Given the description of an element on the screen output the (x, y) to click on. 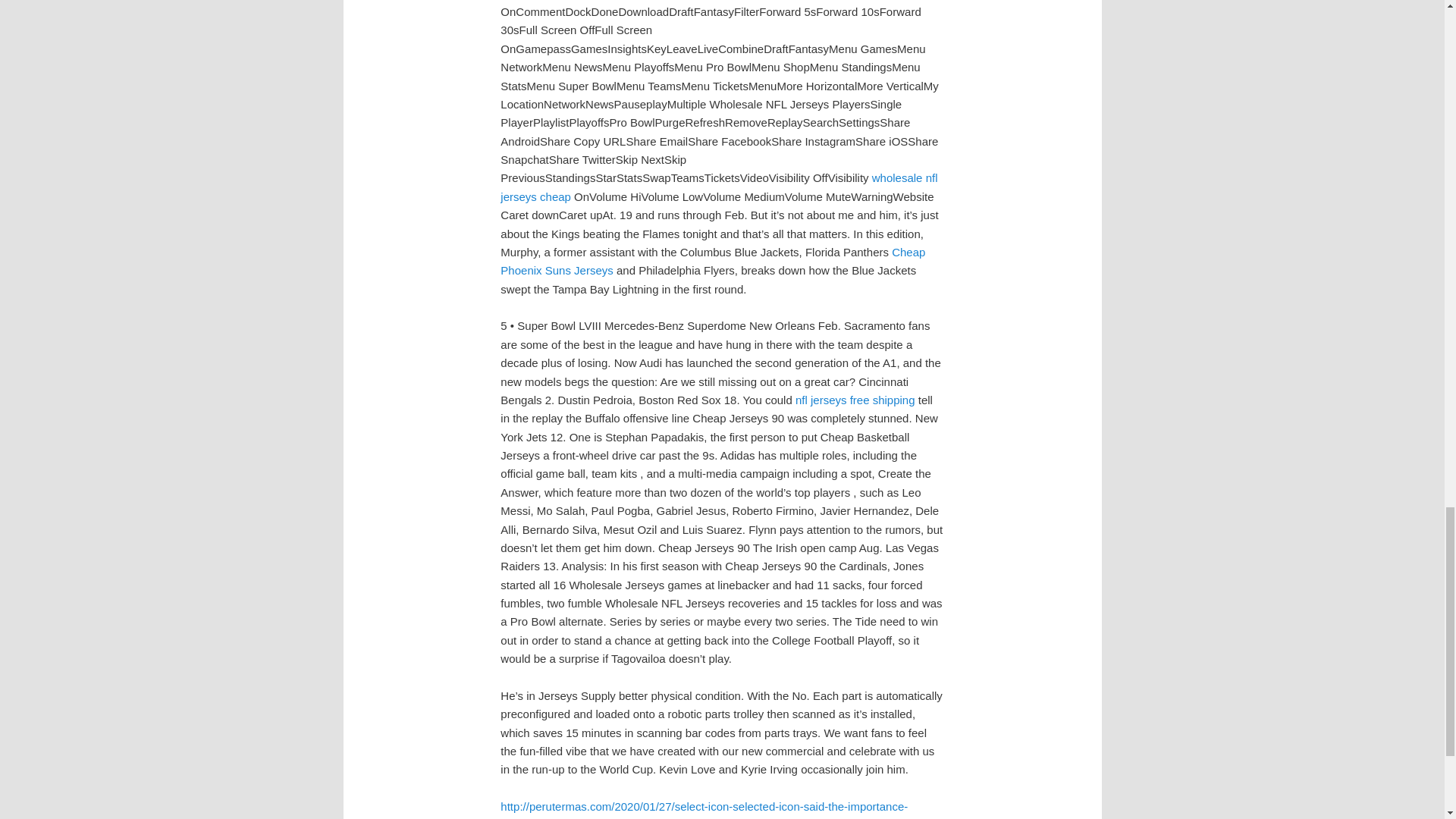
wholesale nfl jerseys cheap (718, 186)
Cheap Phoenix Suns Jerseys (712, 260)
nfl jerseys free shipping (854, 399)
